Given the description of an element on the screen output the (x, y) to click on. 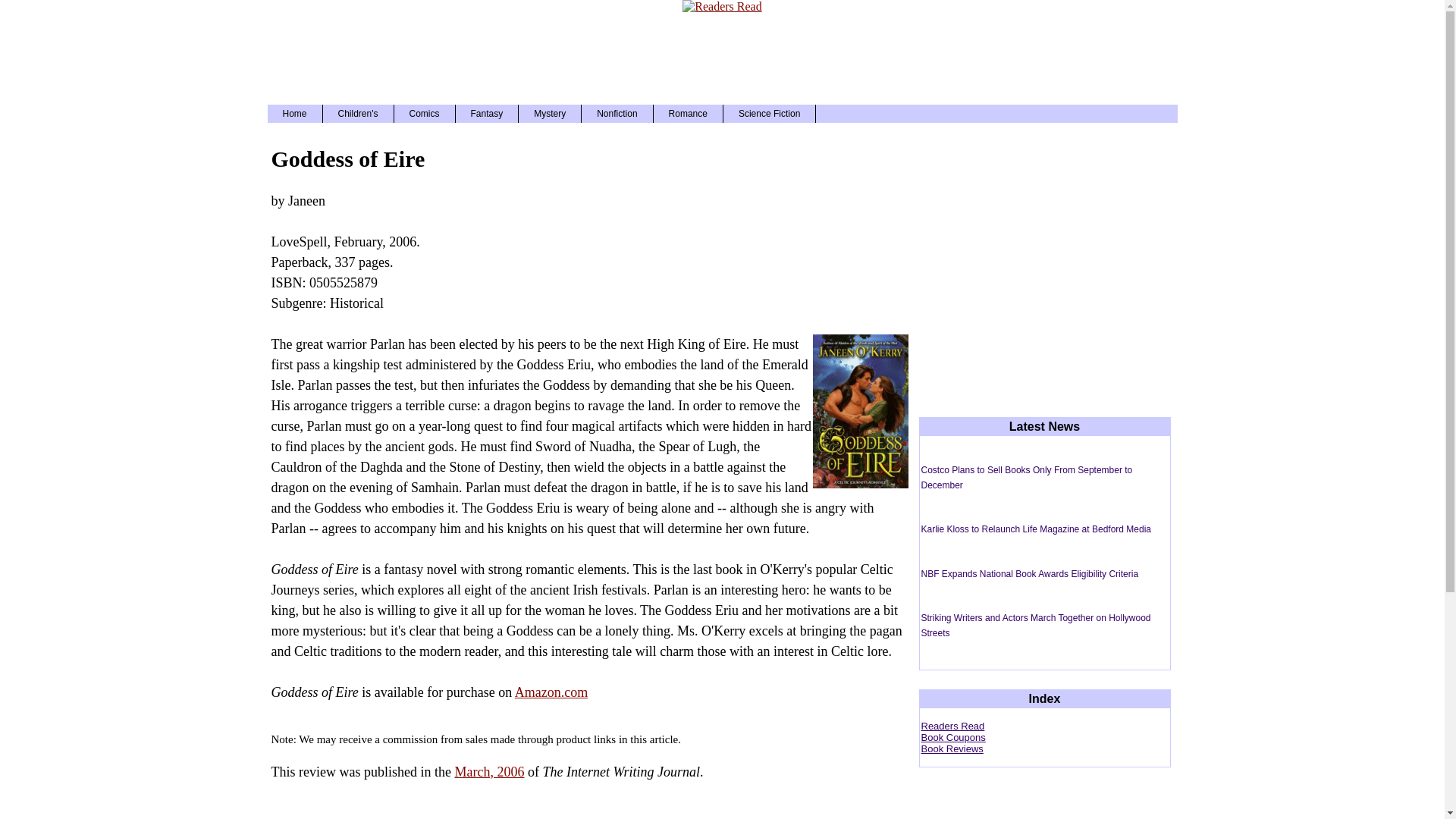
Advertisement (721, 55)
Book Coupons (952, 737)
Karlie Kloss to Relaunch Life Magazine at Bedford Media (1035, 529)
Nonfiction (616, 113)
Home (293, 113)
Science Fiction (769, 113)
Mystery (549, 113)
NBF Expands National Book Awards Eligibility Criteria (1029, 573)
March, 2006 (489, 771)
Amazon.com (551, 692)
